Given the description of an element on the screen output the (x, y) to click on. 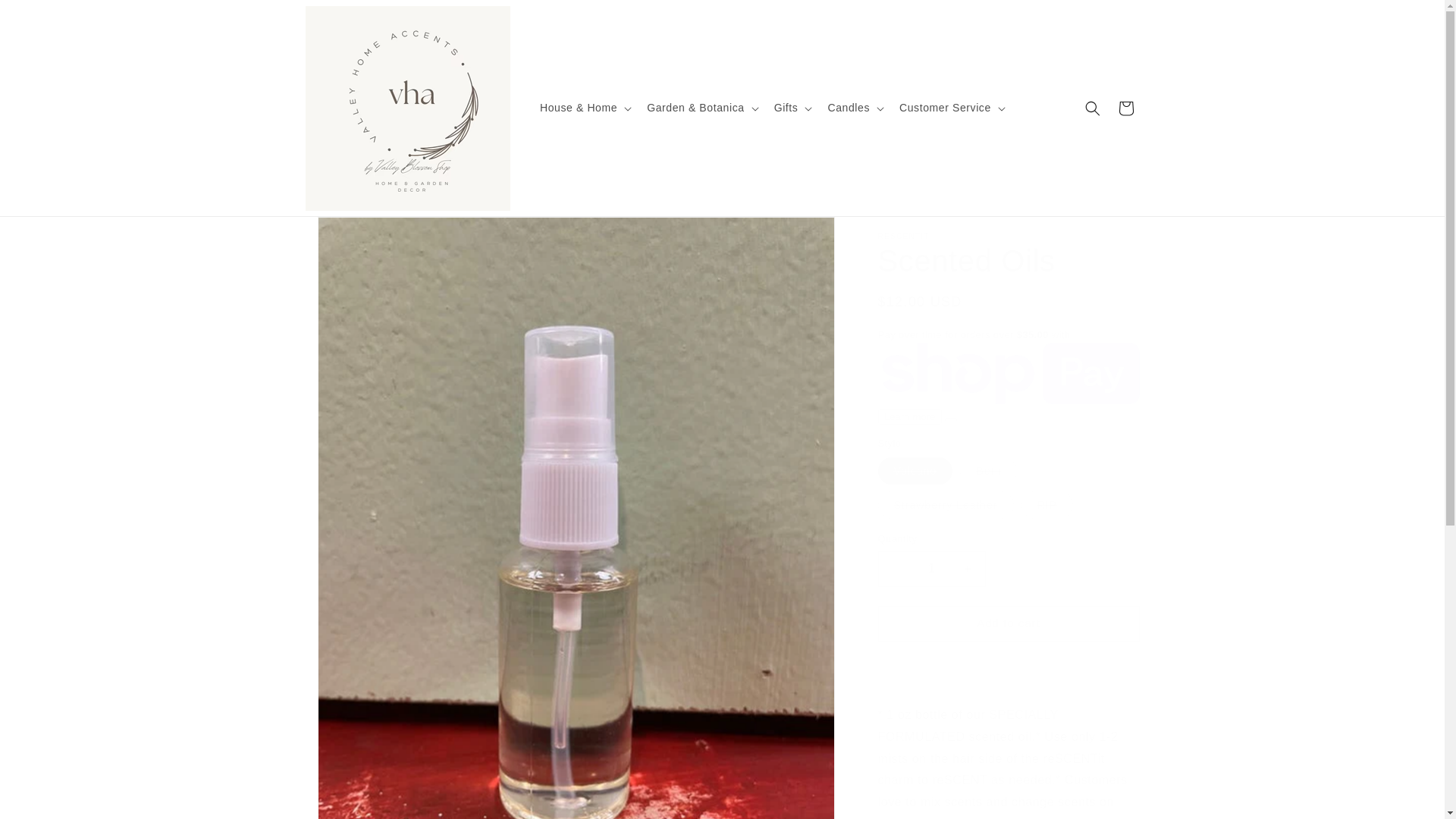
1 (931, 569)
Skip to content (45, 17)
